Given the description of an element on the screen output the (x, y) to click on. 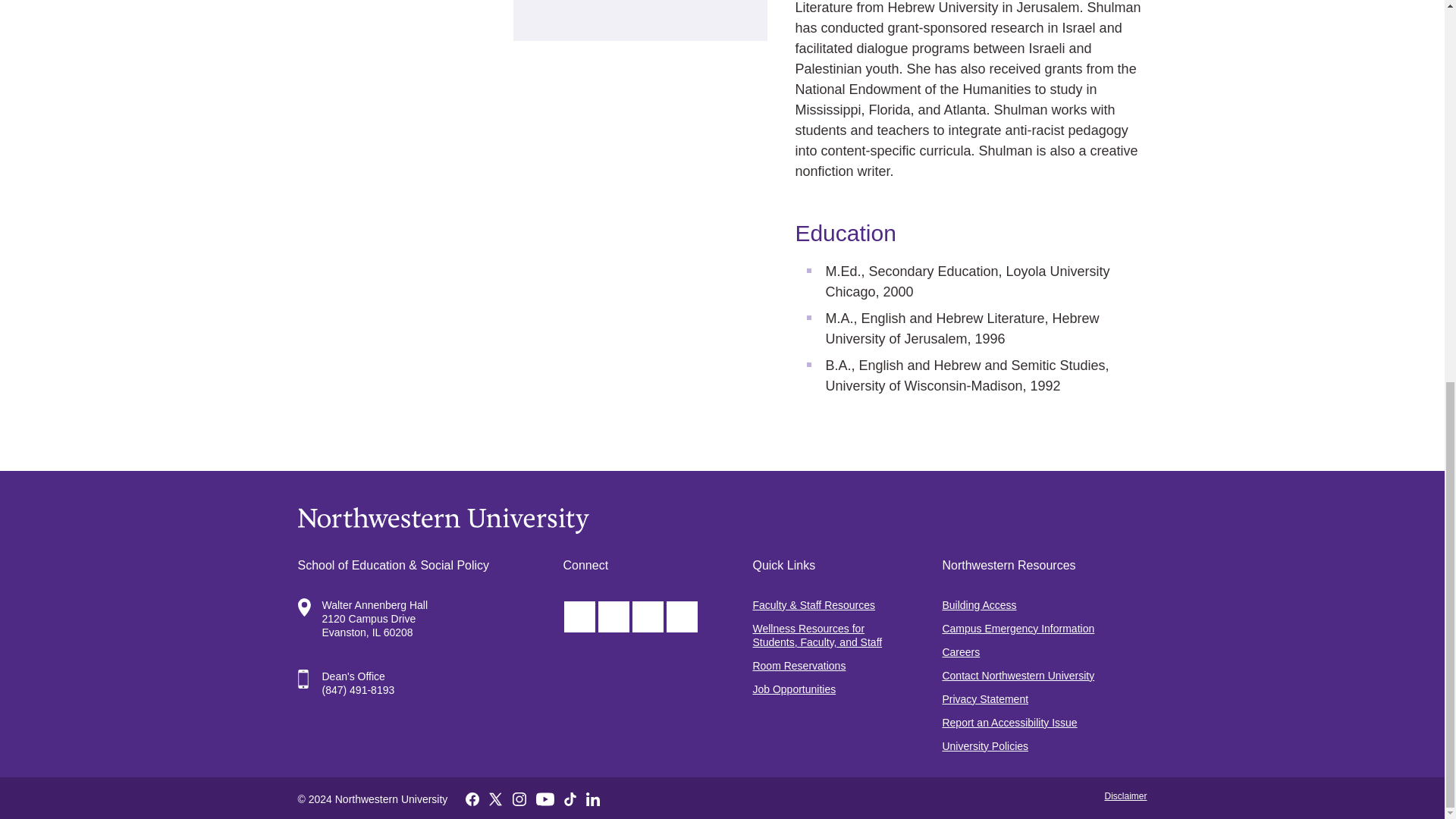
Northwestern University Home (722, 519)
